Given the description of an element on the screen output the (x, y) to click on. 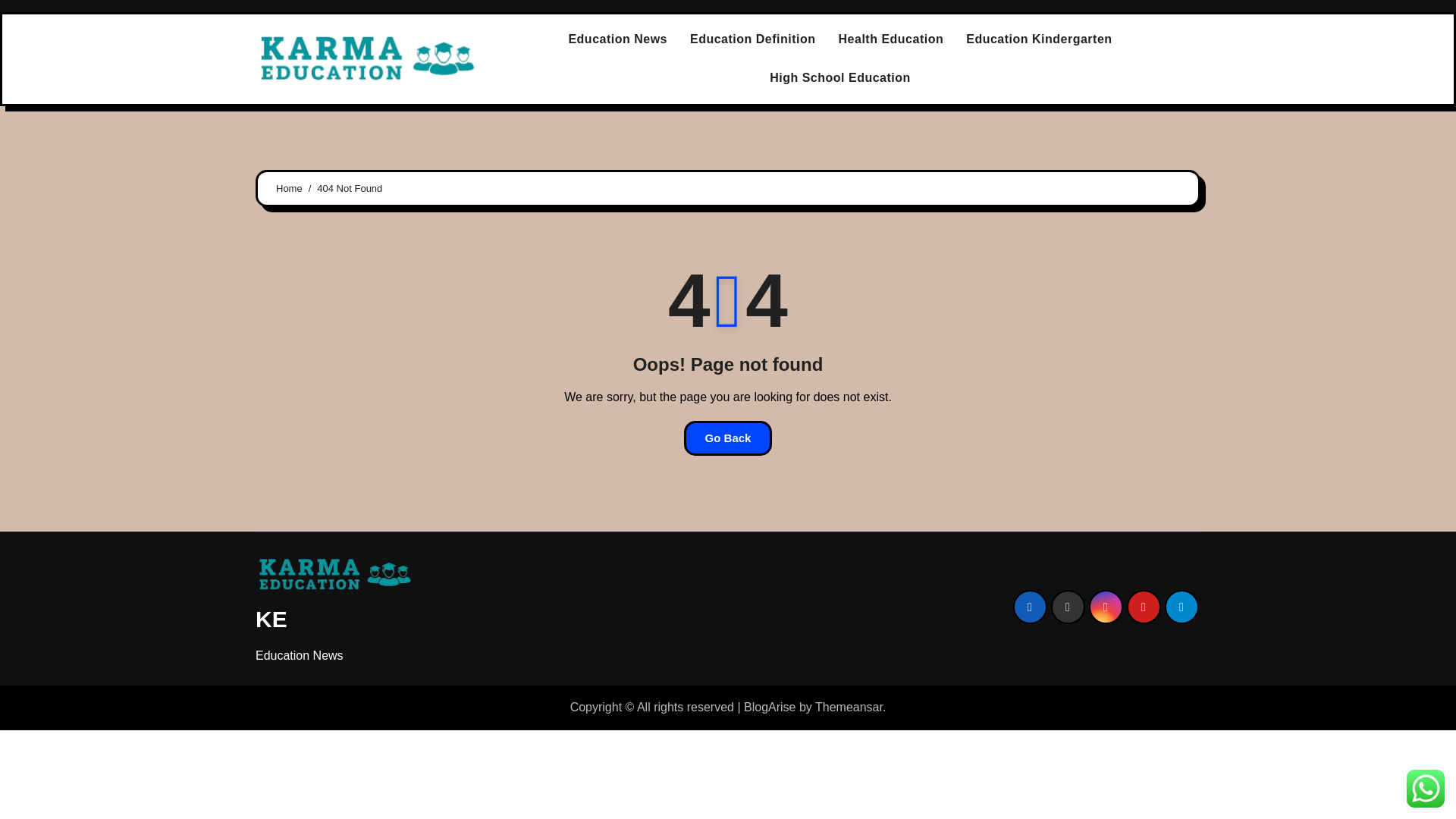
Themeansar (848, 707)
Education Definition (752, 39)
Education News (617, 39)
High School Education (839, 77)
Health Education (891, 39)
Education News (617, 39)
Education Kindergarten (1038, 39)
Education Kindergarten (1038, 39)
Home (289, 188)
KE (271, 618)
Go Back (728, 437)
Health Education (891, 39)
High School Education (839, 77)
Education Definition (752, 39)
BlogArise (769, 707)
